Given the description of an element on the screen output the (x, y) to click on. 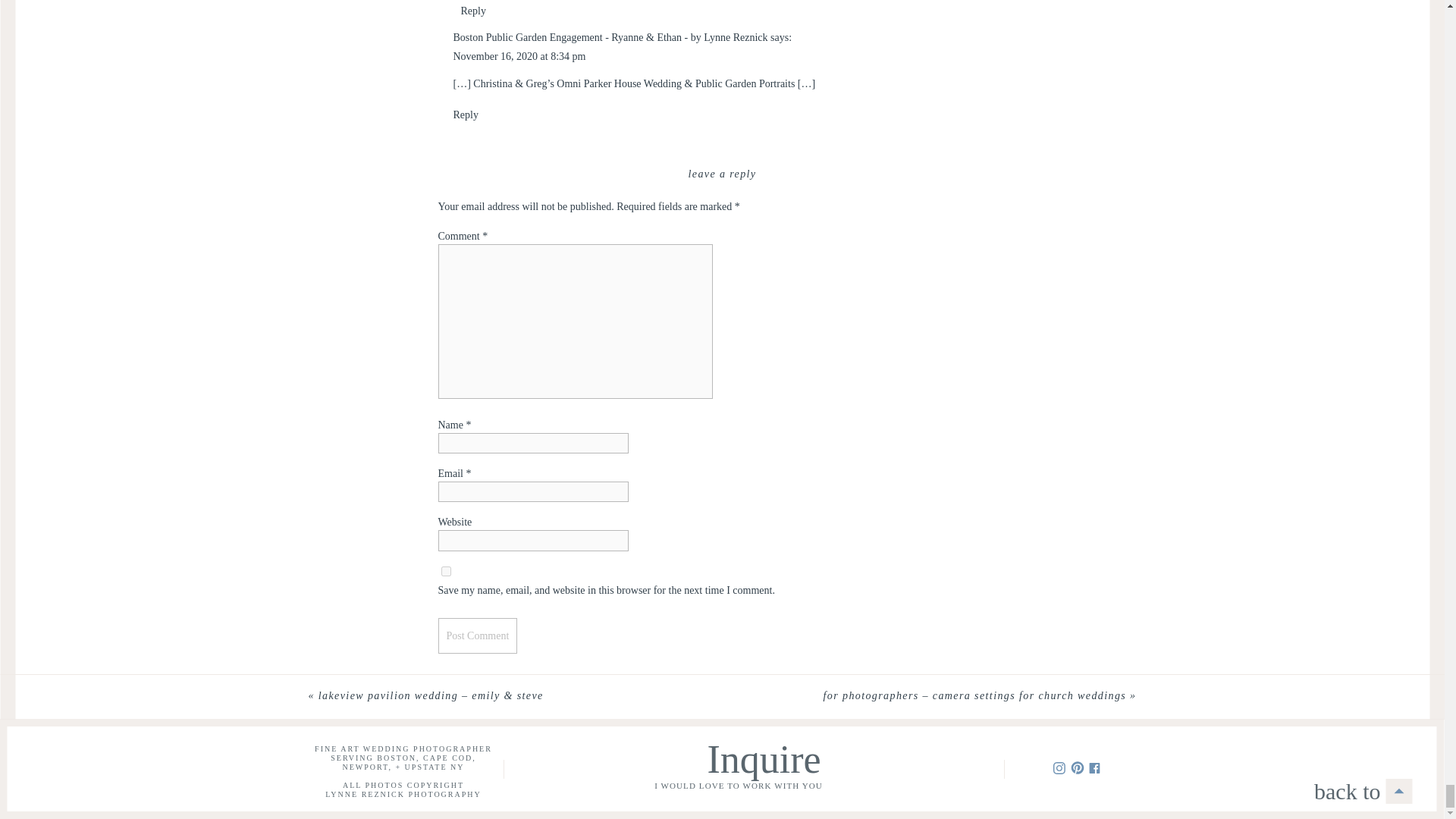
Instagram-color Created with Sketch. (1058, 767)
yes (446, 571)
Facebook Copy-color Created with Sketch. (1094, 767)
Post Comment (478, 635)
